Given the description of an element on the screen output the (x, y) to click on. 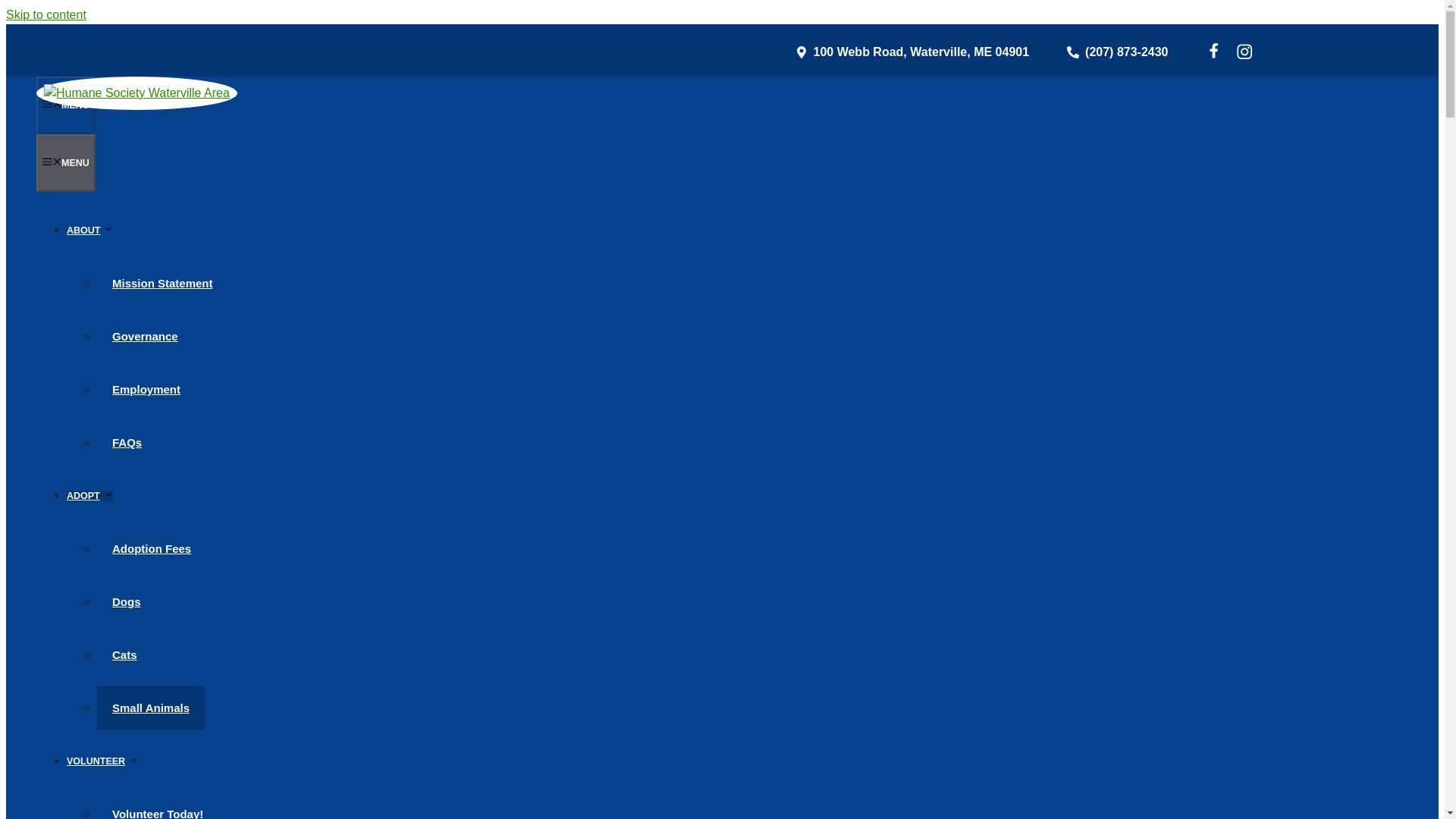
Dogs (126, 601)
Cats (124, 654)
Mission Statement (162, 282)
Skip to content (45, 14)
Employment (146, 389)
ABOUT (89, 230)
ADOPT (89, 495)
VOLUNTEER (102, 760)
Volunteer Today! (157, 805)
Governance (145, 335)
Small Animals (151, 707)
MENU (66, 162)
MENU (66, 105)
100 Webb Road, Waterville, ME 04901 (911, 52)
Humane Society Waterville Area (136, 92)
